Given the description of an element on the screen output the (x, y) to click on. 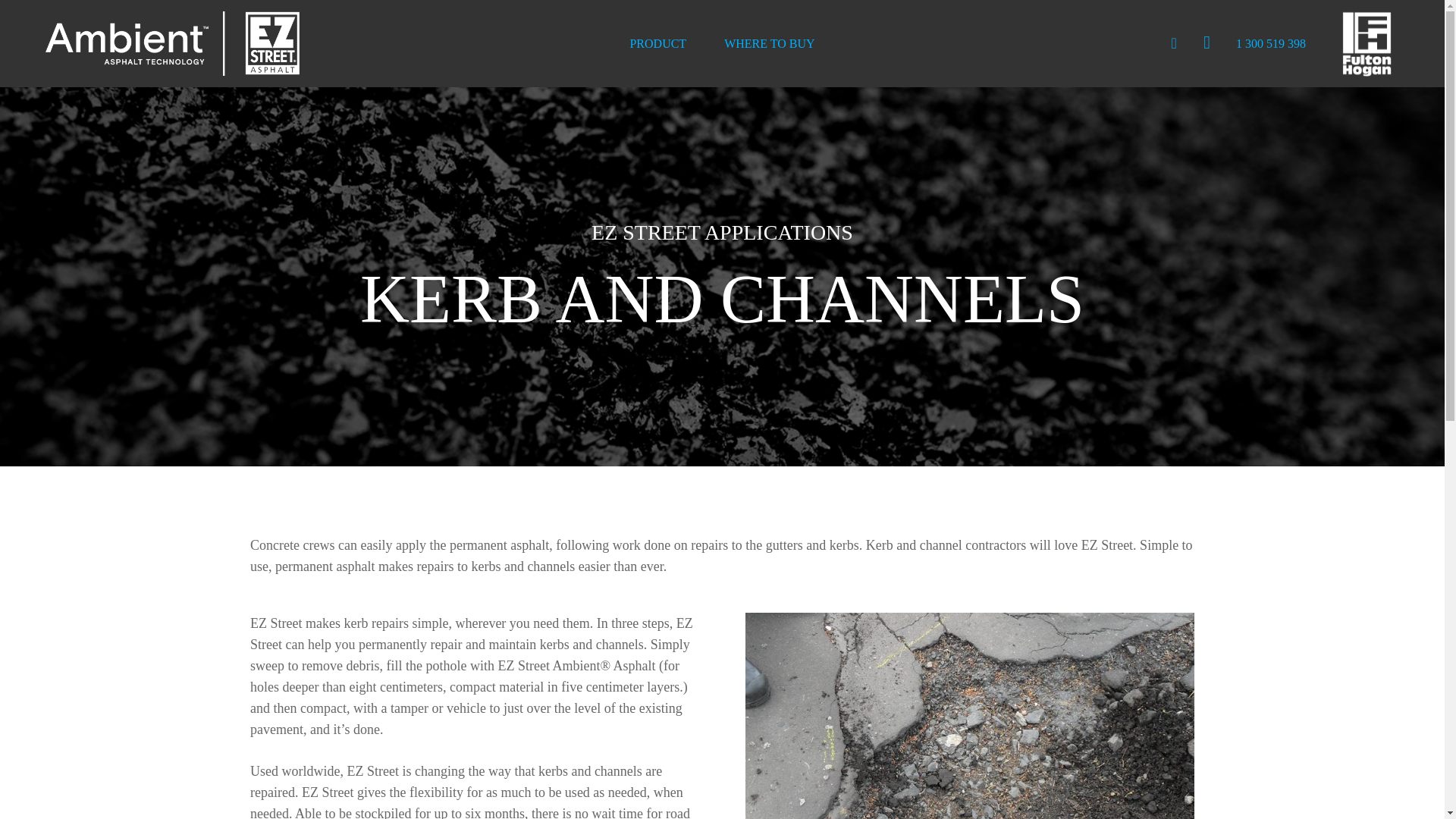
1 300 519 398 (1271, 43)
WHERE TO BUY (768, 43)
EZ Street Worldwide (1206, 43)
PRODUCT (656, 43)
search (1173, 43)
